Given the description of an element on the screen output the (x, y) to click on. 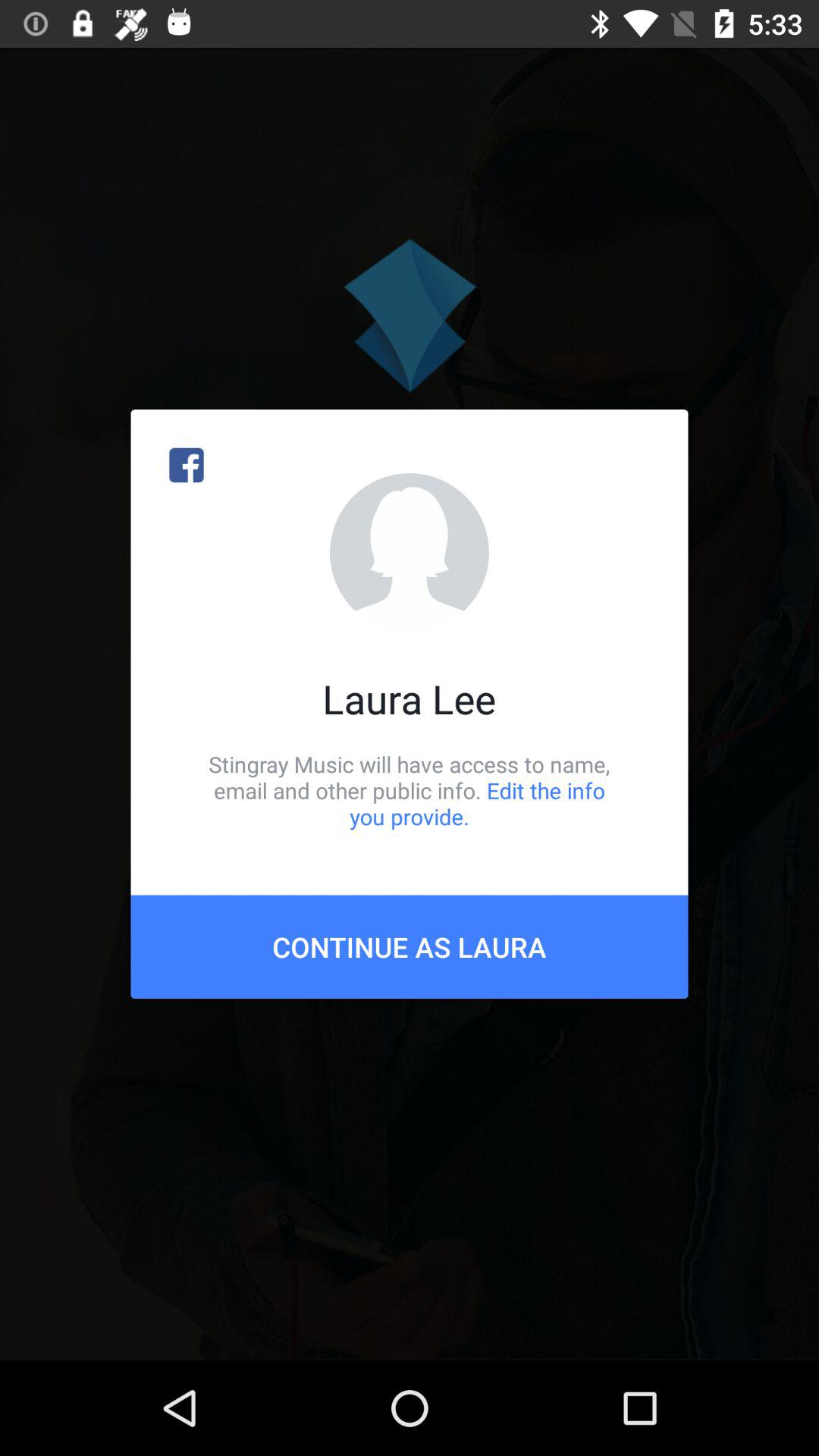
turn off continue as laura (409, 946)
